Given the description of an element on the screen output the (x, y) to click on. 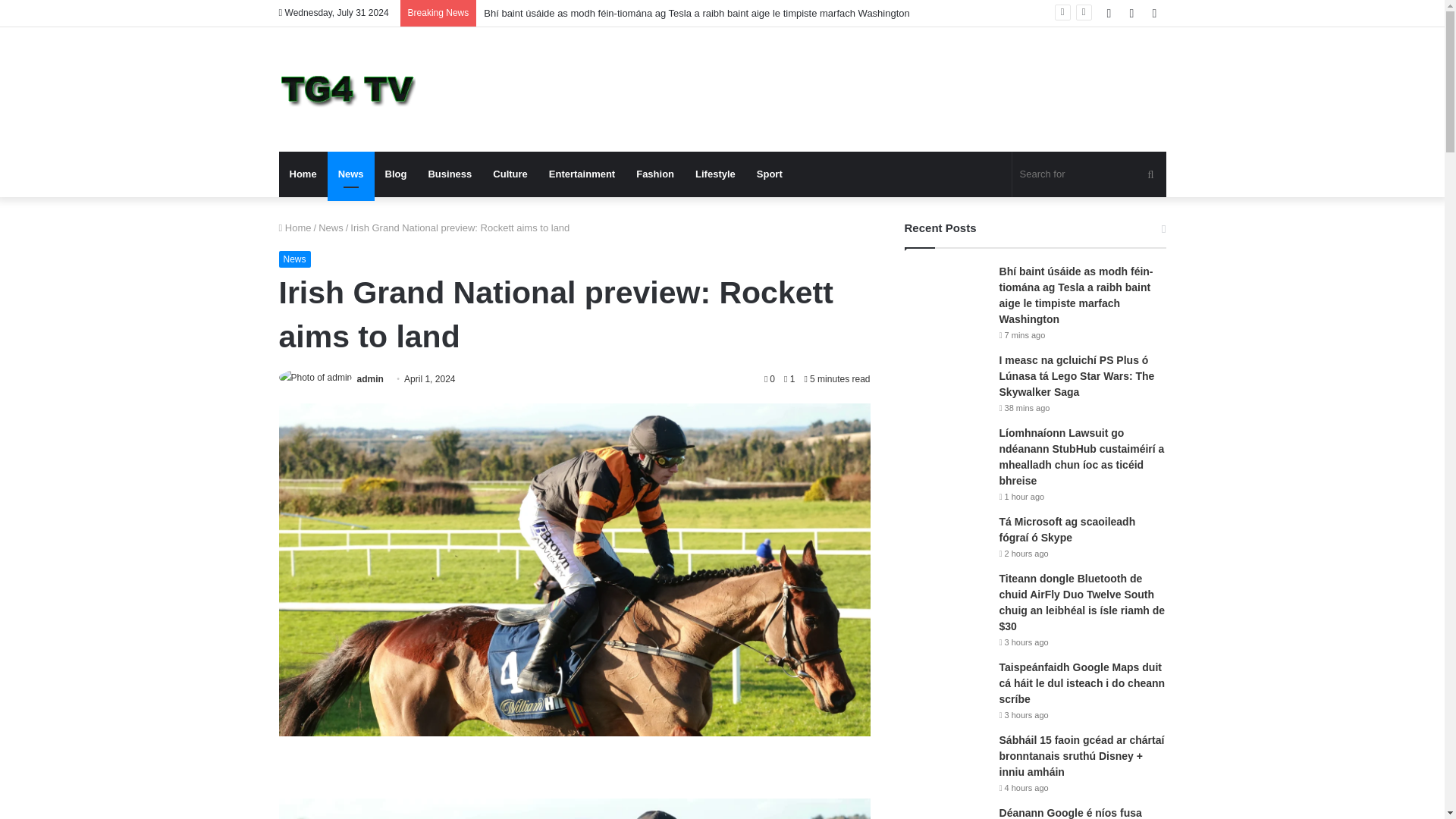
Sport (769, 174)
admin (370, 378)
Entertainment (582, 174)
News (330, 227)
News (350, 174)
Lifestyle (714, 174)
Home (295, 227)
Culture (509, 174)
Search for (1088, 174)
Blog (395, 174)
Fashion (655, 174)
TG4 TV (346, 89)
Home (303, 174)
News (295, 258)
admin (370, 378)
